Given the description of an element on the screen output the (x, y) to click on. 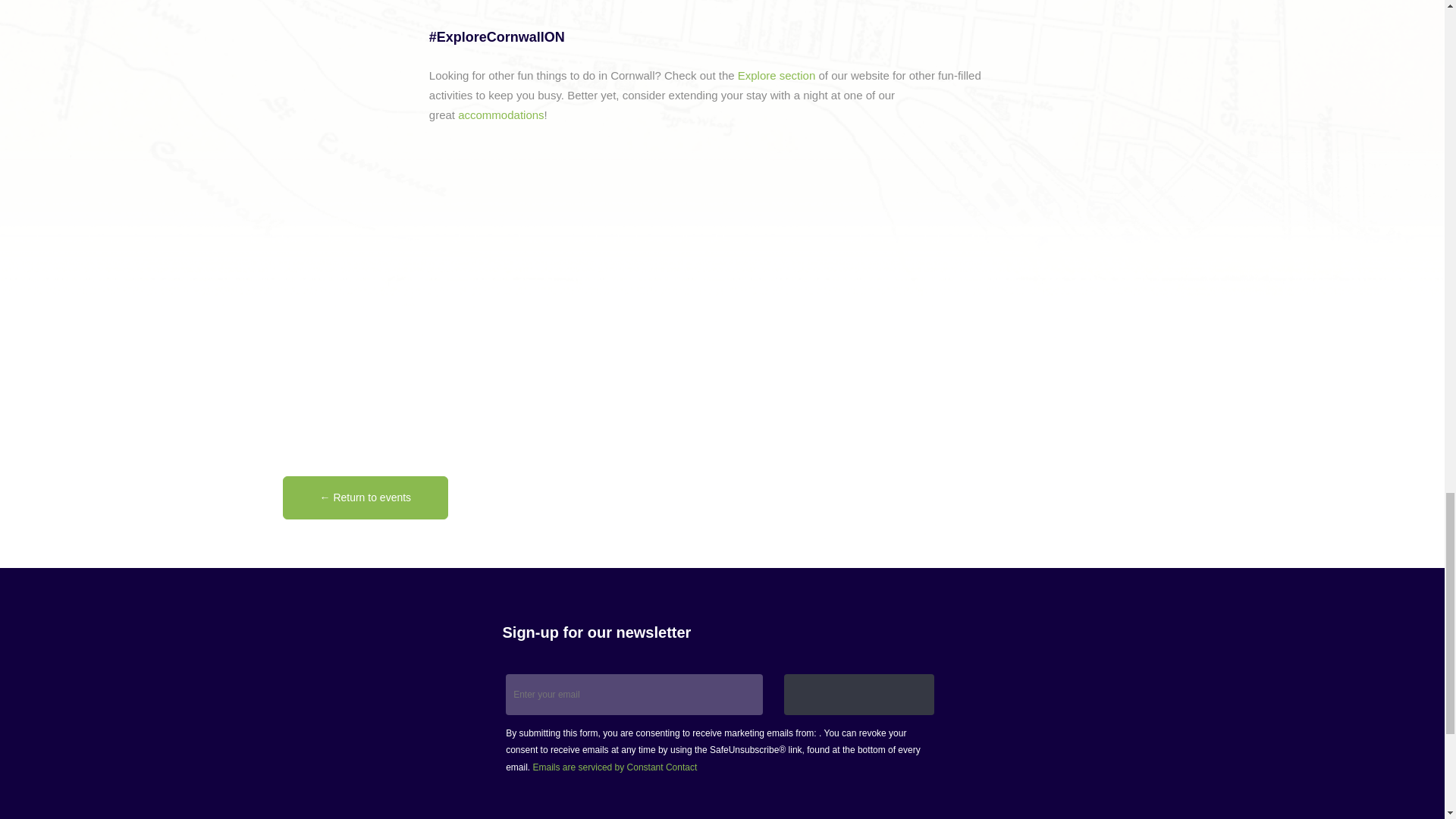
Sign up (859, 694)
